Given the description of an element on the screen output the (x, y) to click on. 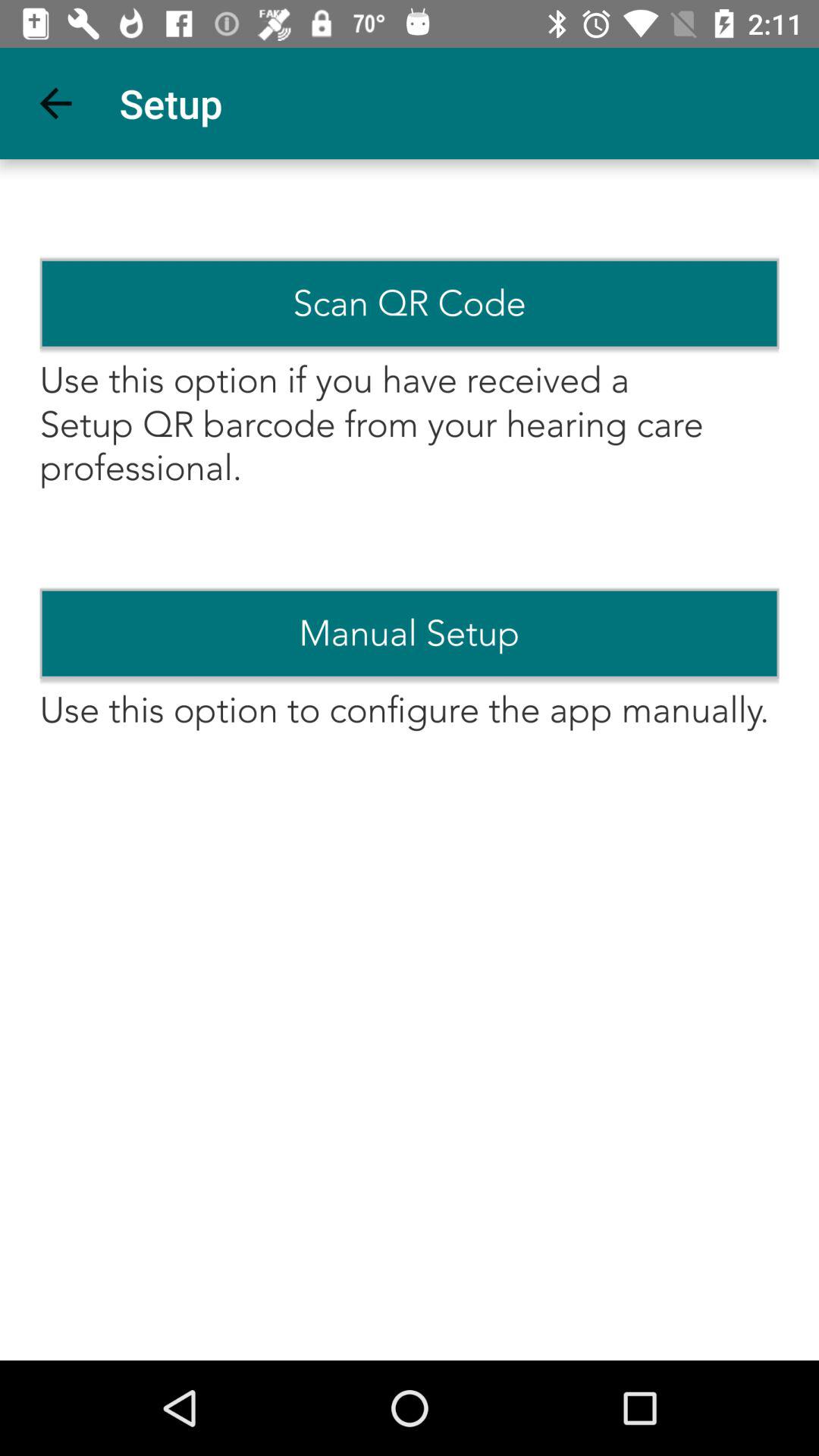
open the item next to setup (55, 103)
